Given the description of an element on the screen output the (x, y) to click on. 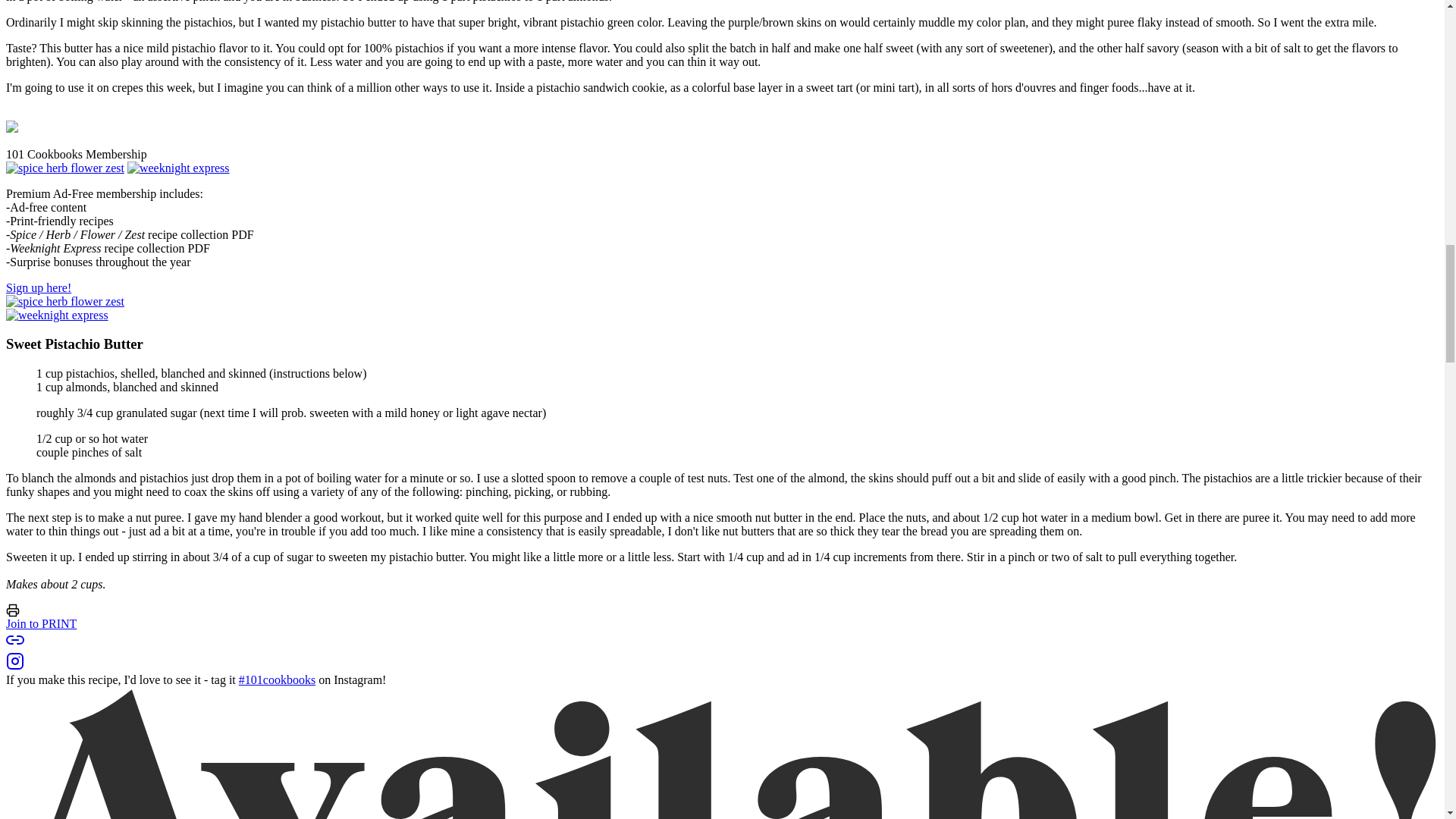
instagram icon (14, 660)
permalink icon (14, 639)
